Given the description of an element on the screen output the (x, y) to click on. 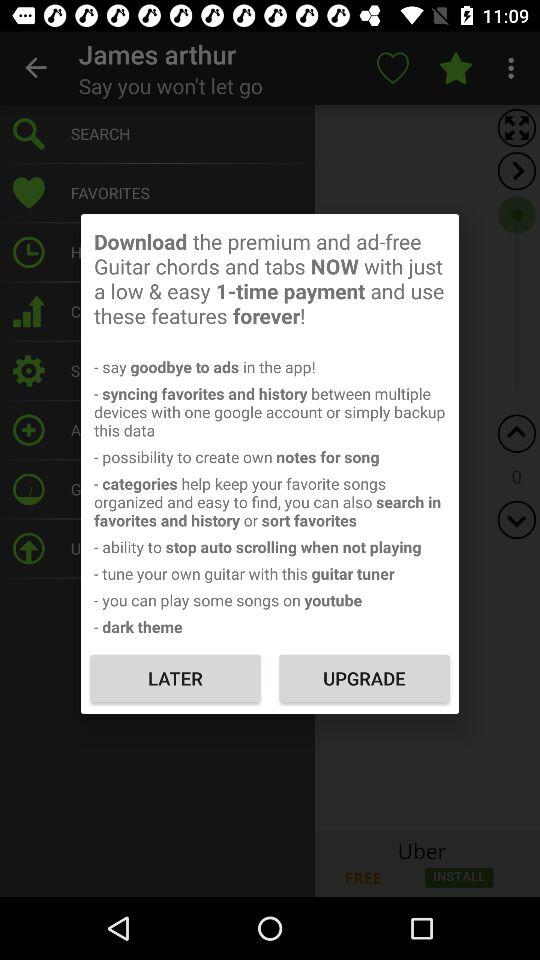
flip to the upgrade (364, 677)
